Given the description of an element on the screen output the (x, y) to click on. 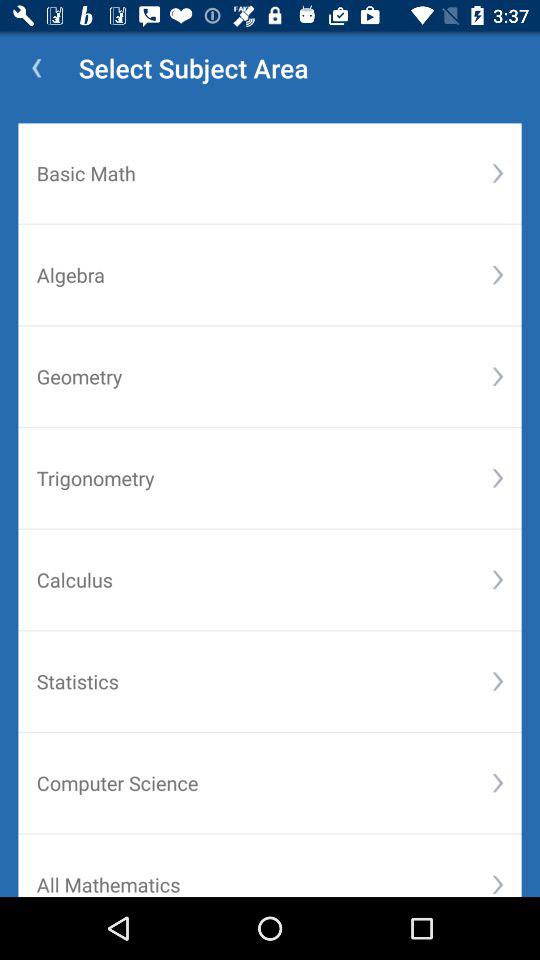
turn off the item above statistics icon (497, 579)
